Given the description of an element on the screen output the (x, y) to click on. 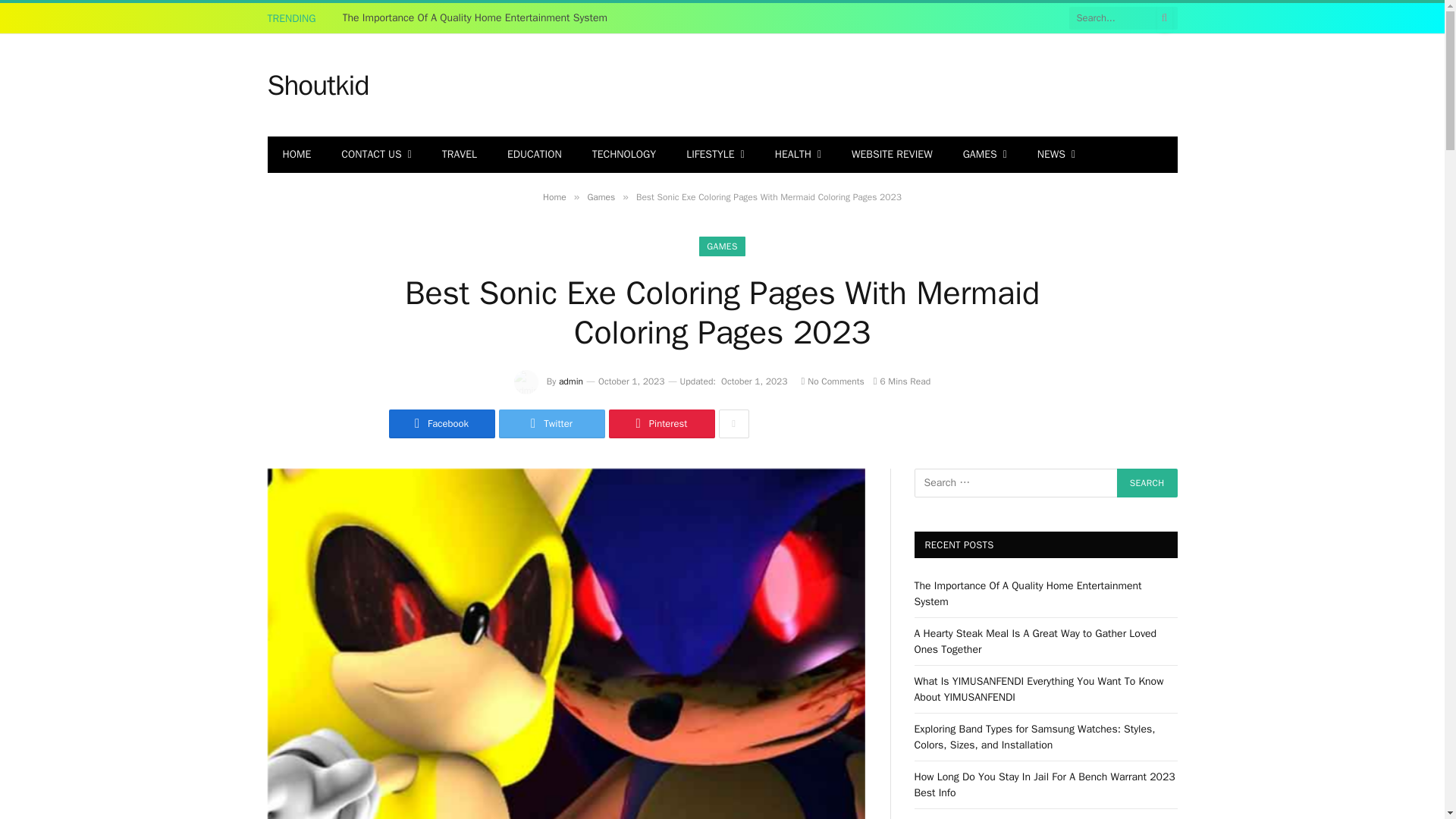
EDUCATION (534, 154)
HEALTH (797, 154)
Show More Social Sharing (734, 423)
Home (554, 196)
The Importance Of A Quality Home Entertainment System (478, 18)
HOME (296, 154)
admin (571, 381)
Share on Pinterest (661, 423)
TECHNOLOGY (623, 154)
Games (600, 196)
CONTACT US (376, 154)
GAMES (721, 246)
Share on Facebook (441, 423)
Search (1146, 482)
Posts by admin (571, 381)
